Given the description of an element on the screen output the (x, y) to click on. 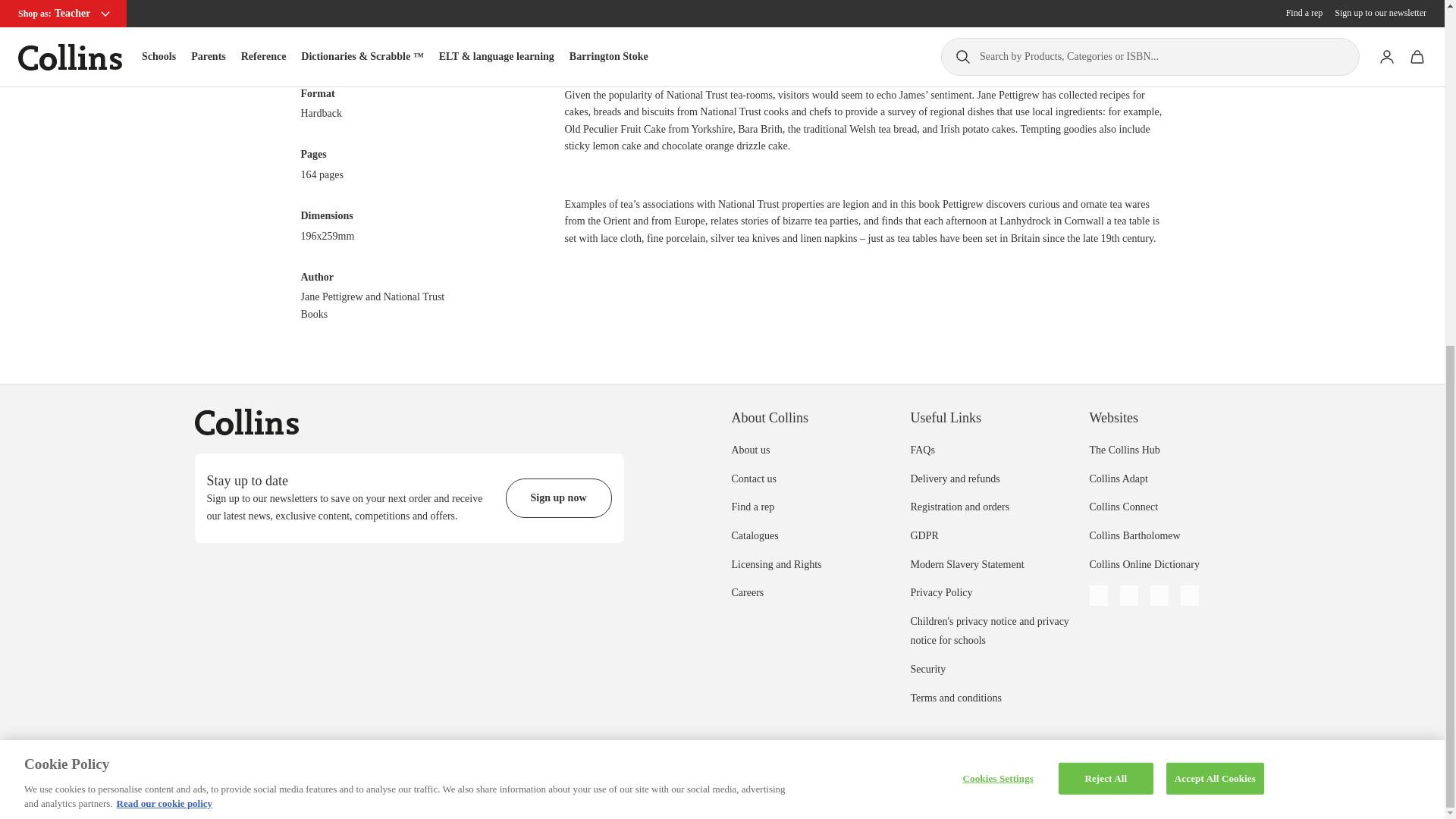
FAQs (922, 449)
Registration and orders (959, 506)
Catalogues (753, 535)
Licensing and Rights (775, 564)
Delivery and refunds (954, 478)
Sign up now (558, 497)
Careers (746, 592)
Contact us (753, 478)
Find a rep (752, 506)
About us (750, 449)
